Given the description of an element on the screen output the (x, y) to click on. 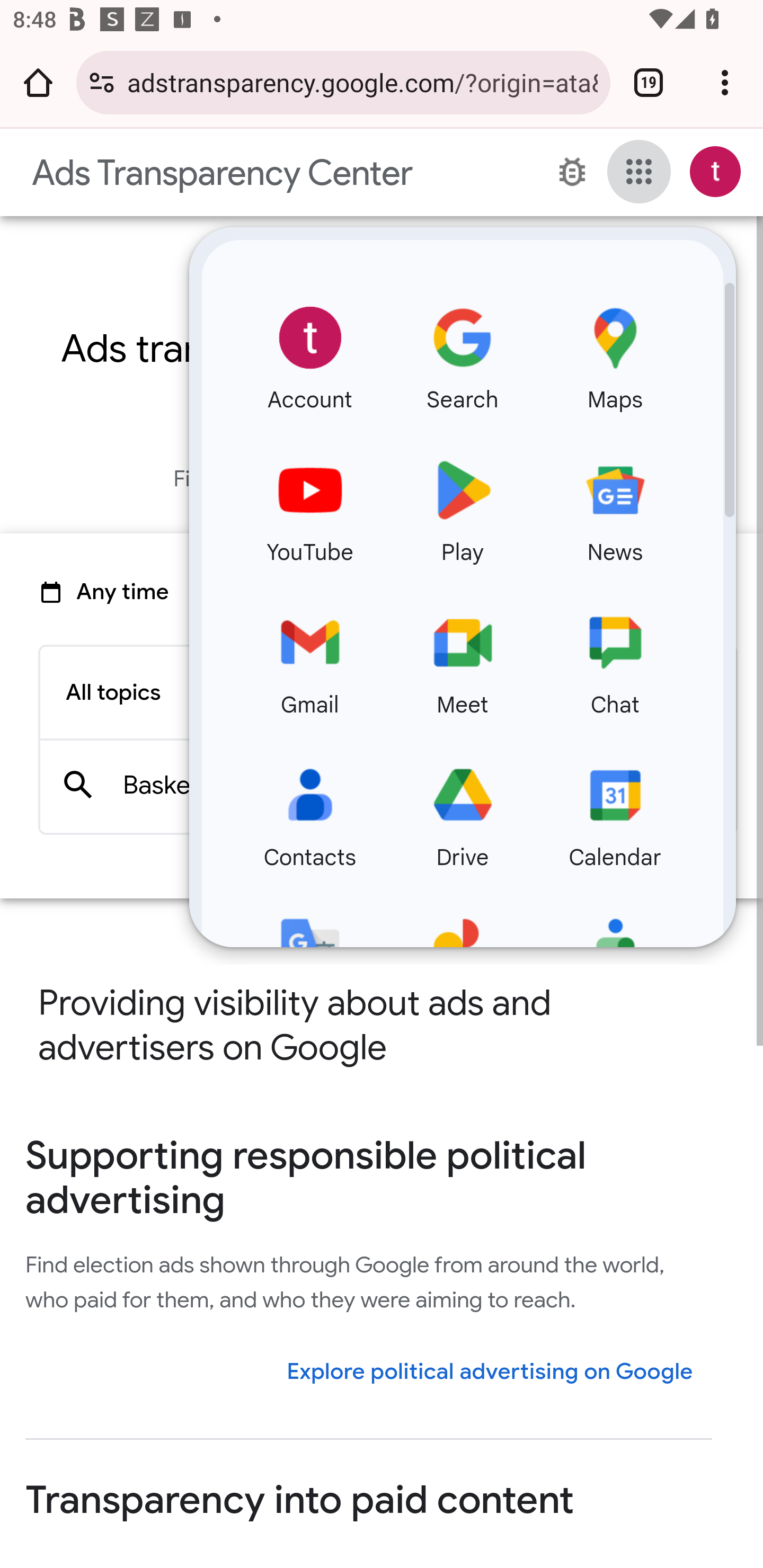
Open the home page (38, 82)
Connection is secure (101, 82)
Switch or close tabs (648, 82)
Customize and control Google Chrome (724, 82)
adstransparency.google.com/?origin=ata&region=HK (362, 82)
Send Bug Report (572, 171)
Google apps (638, 171)
Account (309, 353)
Search (462, 353)
Maps (615, 353)
YouTube (309, 506)
Play (462, 506)
News (615, 506)
Date range filter button (123, 591)
Gmail (309, 658)
Meet (462, 658)
Chat (615, 658)
Contacts (309, 811)
Drive (462, 811)
Calendar (615, 811)
Explore political advertising on Google (489, 1371)
